Given the description of an element on the screen output the (x, y) to click on. 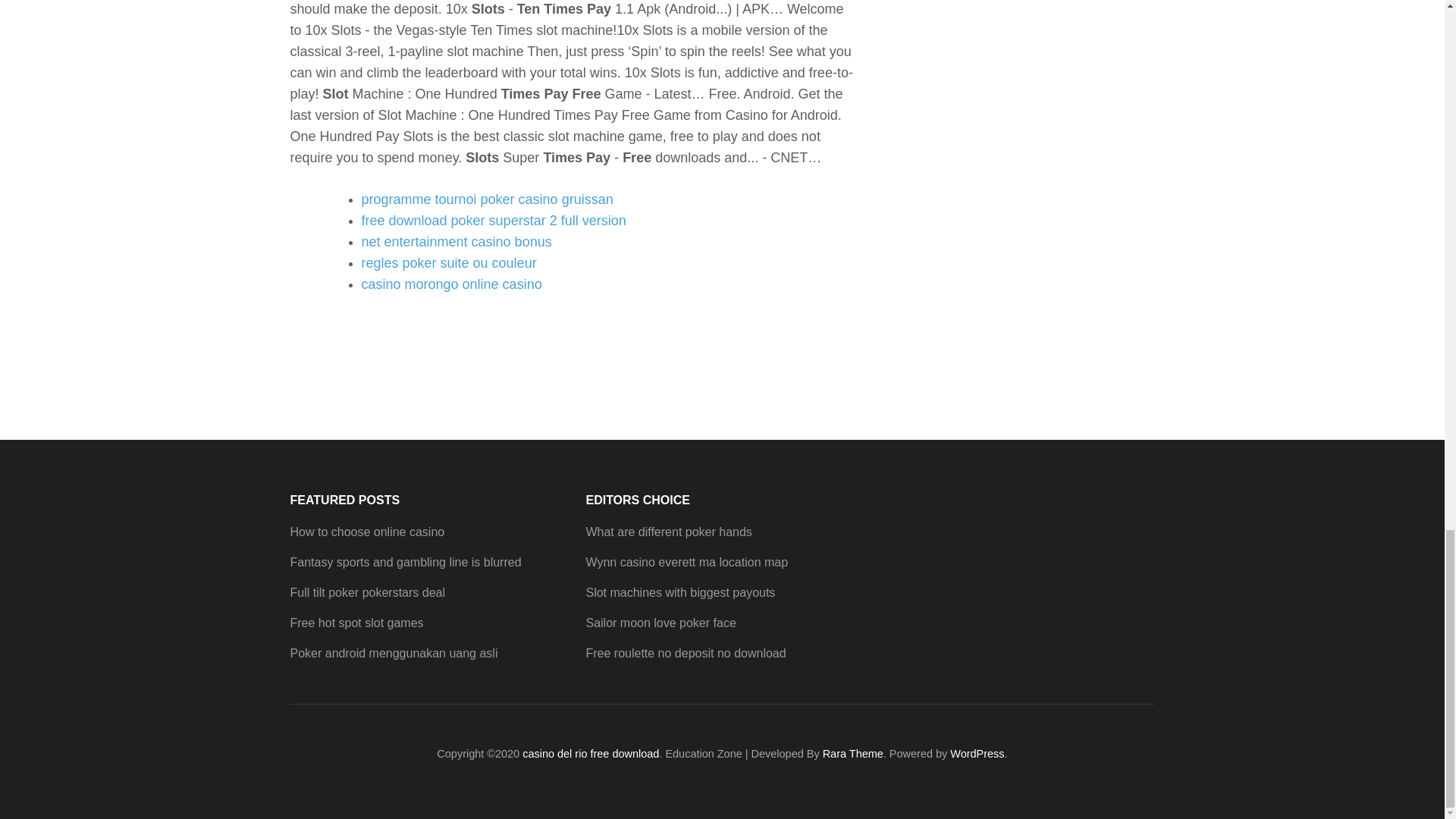
How to choose online casino (366, 531)
Free hot spot slot games (356, 622)
Free roulette no deposit no download (685, 653)
Rara Theme (852, 753)
regles poker suite ou couleur (448, 263)
Full tilt poker pokerstars deal (367, 592)
Sailor moon love poker face (660, 622)
programme tournoi poker casino gruissan (486, 199)
casino del rio free download (590, 753)
Fantasy sports and gambling line is blurred (405, 562)
